Given the description of an element on the screen output the (x, y) to click on. 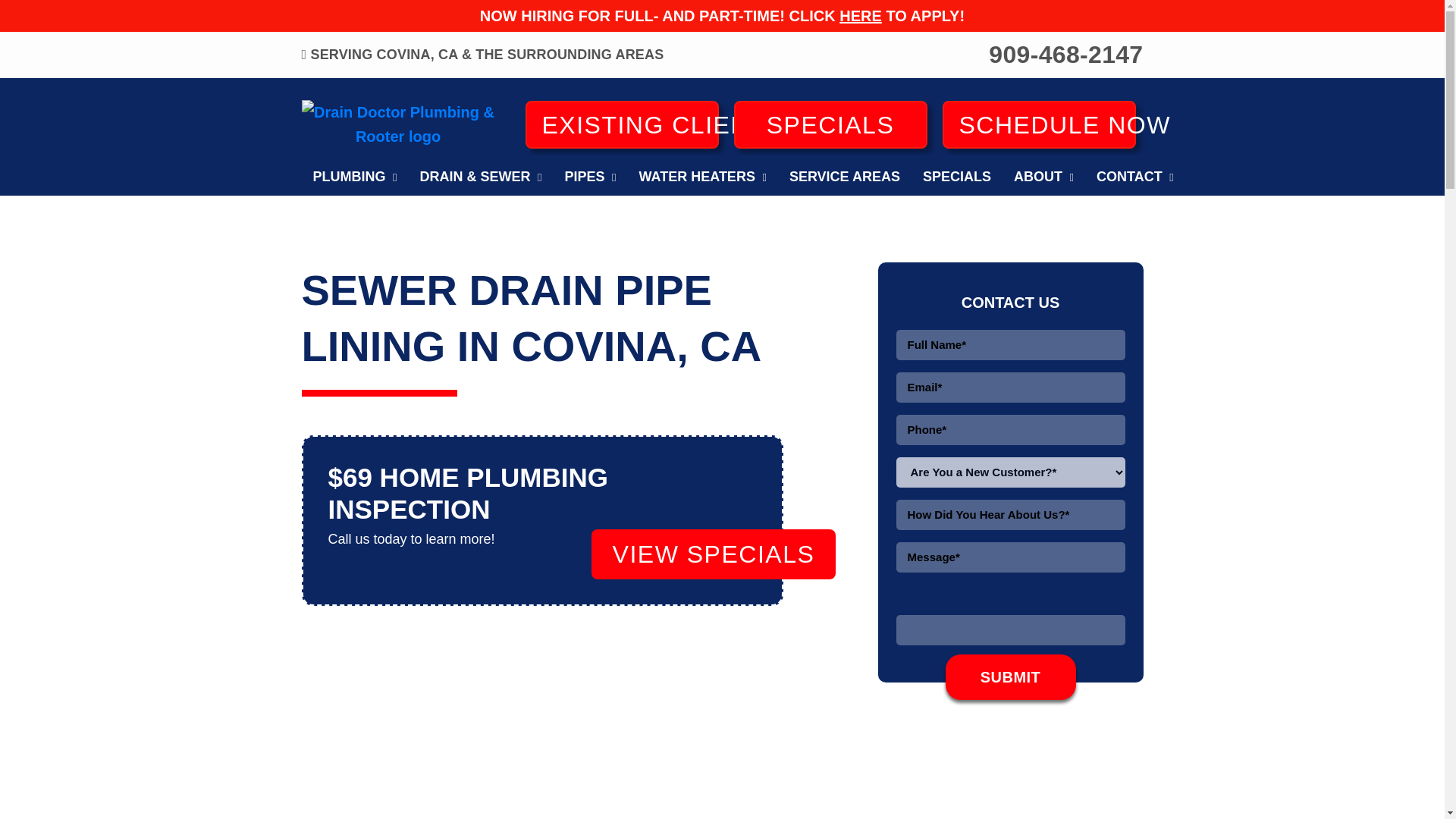
Submit (1009, 677)
SCHEDULE NOW (1038, 124)
SPECIALS (830, 124)
909-468-2147 (1065, 53)
EXISTING CLIENTS (620, 124)
PIPES (590, 174)
WATER HEATERS (702, 174)
HERE (861, 15)
PLUMBING (355, 174)
